Given the description of an element on the screen output the (x, y) to click on. 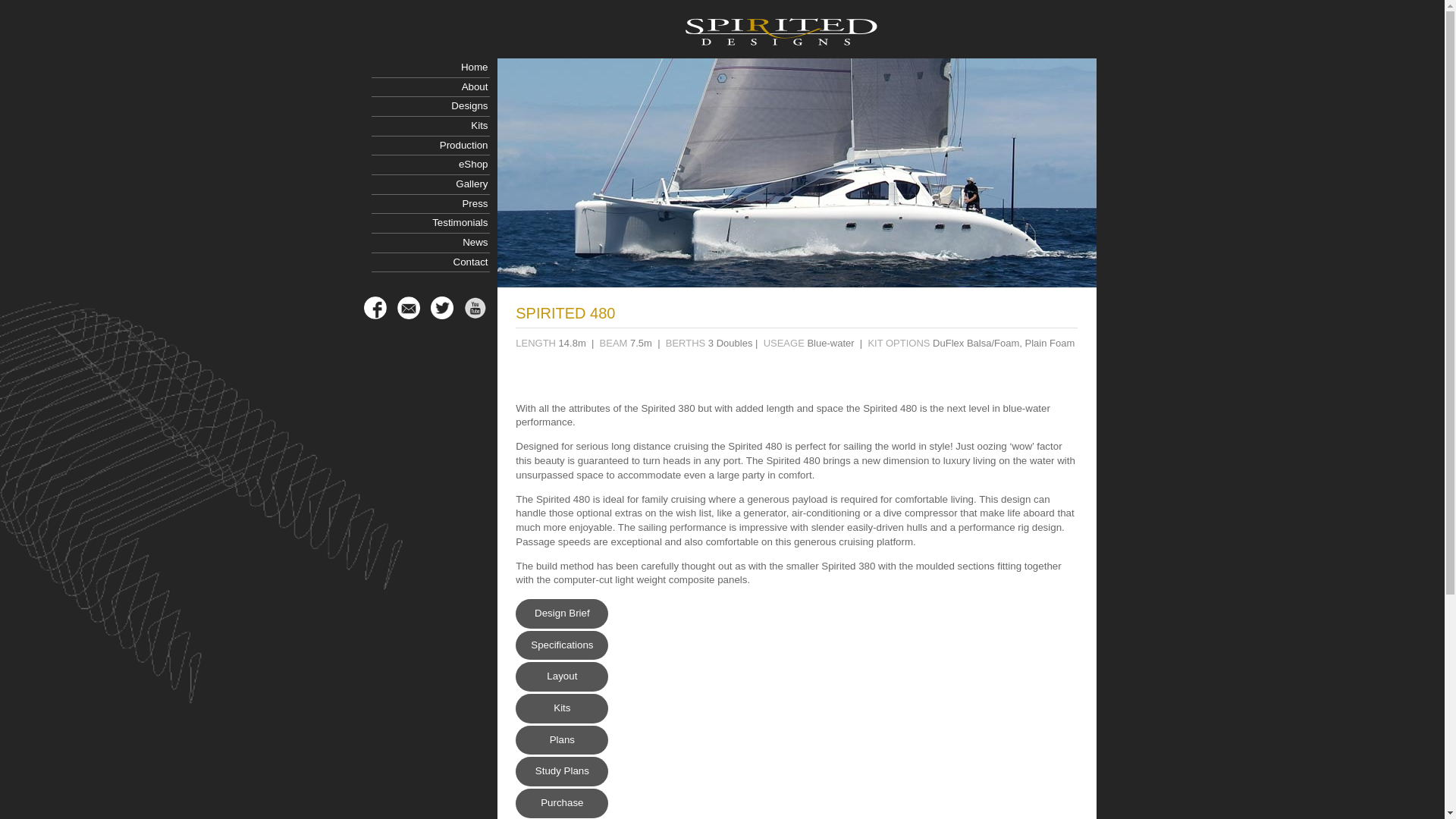
Purchase (561, 803)
Press (430, 204)
eShop (430, 165)
Testimonials (430, 223)
Design Brief (561, 613)
Production (430, 146)
About (430, 87)
Contact (430, 262)
Home (430, 67)
Kits (430, 126)
Plans (561, 740)
Gallery (430, 184)
Layout (561, 676)
Kits (561, 708)
Specifications (561, 645)
